Given the description of an element on the screen output the (x, y) to click on. 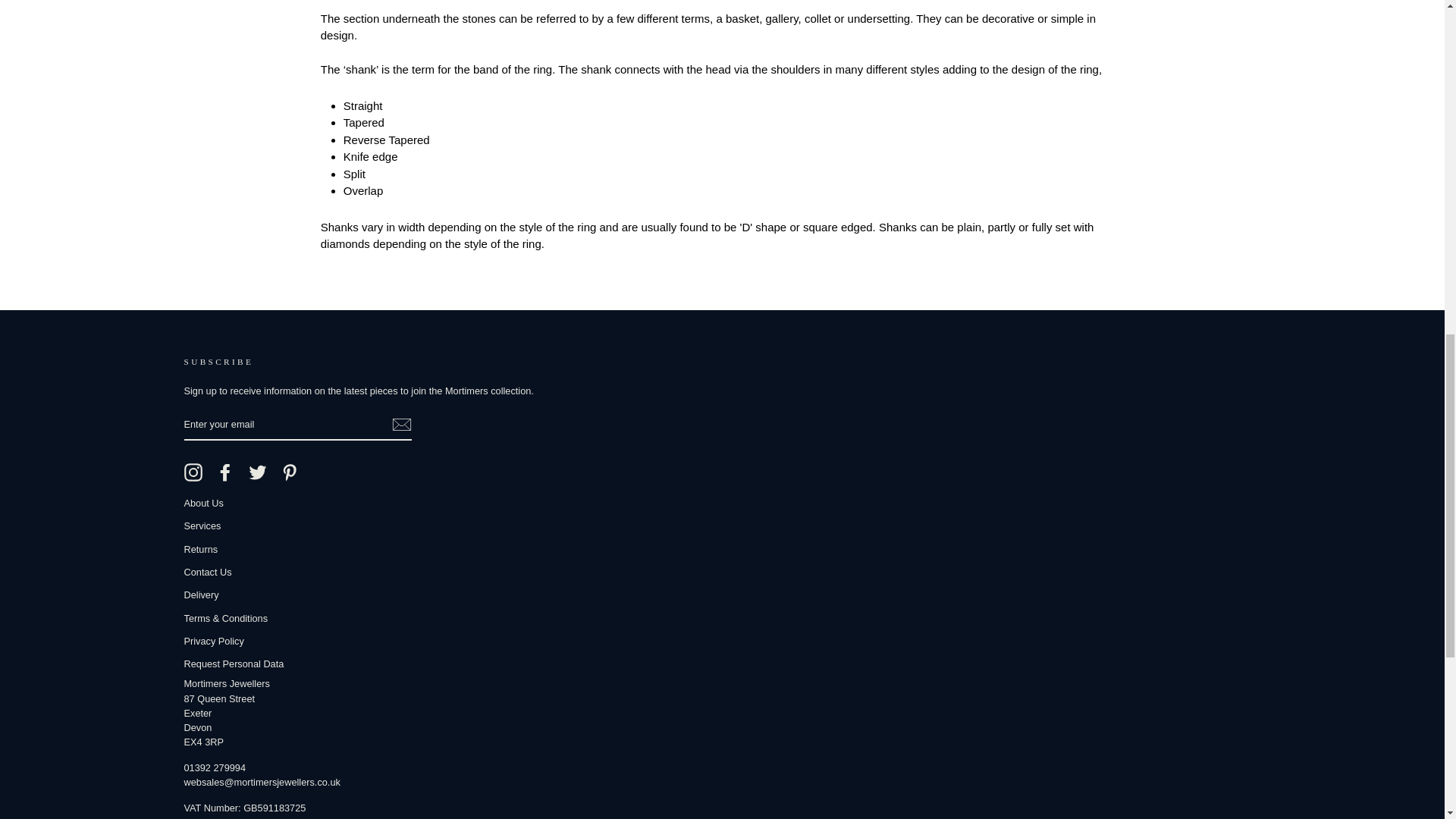
Mortimers Jewellers on Instagram (192, 472)
Mortimers Jewellers on Facebook (224, 472)
Mortimers Jewellers on Pinterest (289, 472)
Mortimers Jewellers on Twitter (257, 472)
